Given the description of an element on the screen output the (x, y) to click on. 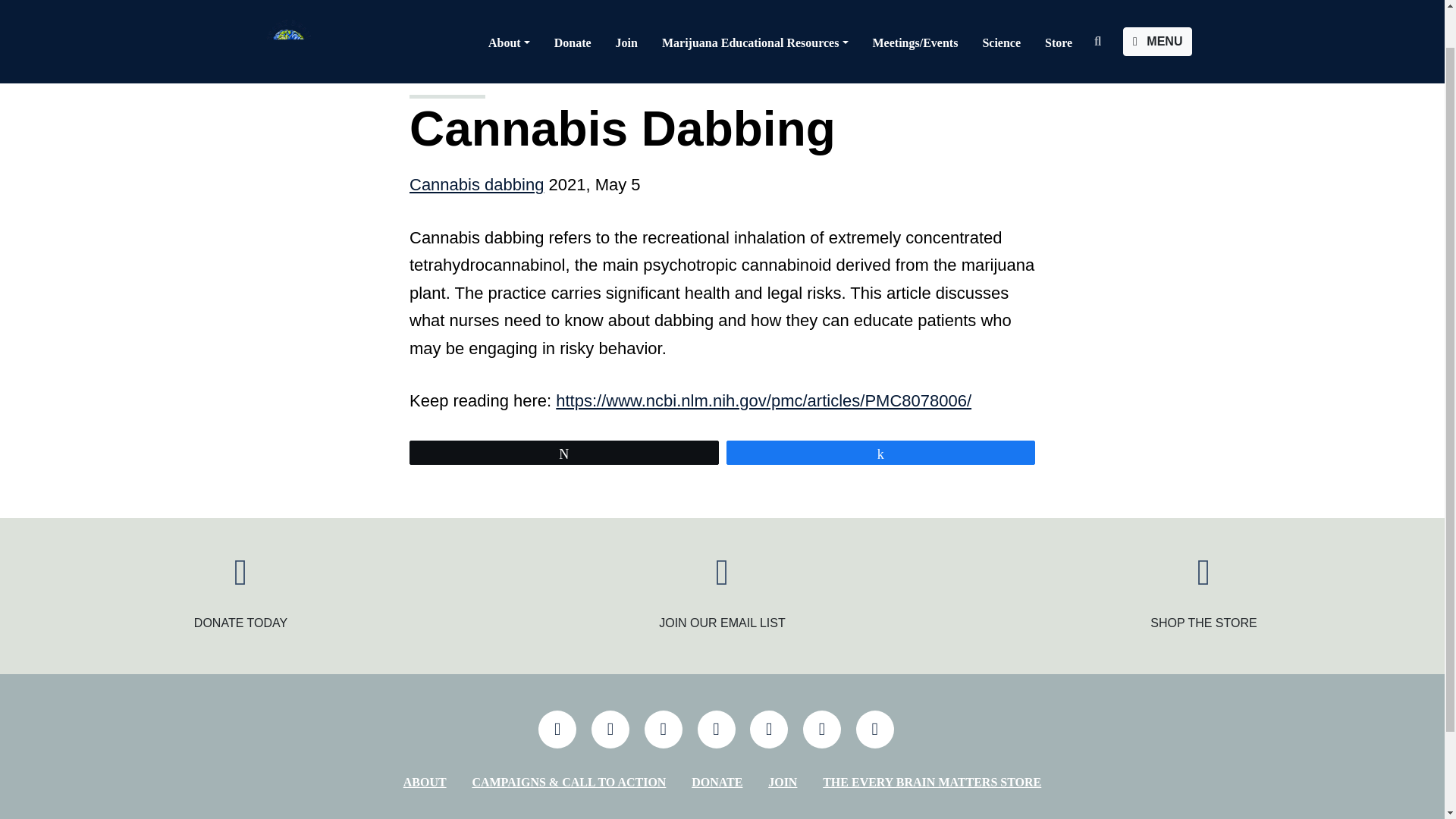
JOIN (782, 783)
SHOP THE STORE (1203, 623)
Donate (572, 6)
MENU (1157, 6)
DONATE (716, 783)
DONATE TODAY (240, 623)
JOIN OUR EMAIL LIST (721, 623)
About (508, 6)
Science (1000, 6)
Marijuana Educational Resources (755, 6)
